Given the description of an element on the screen output the (x, y) to click on. 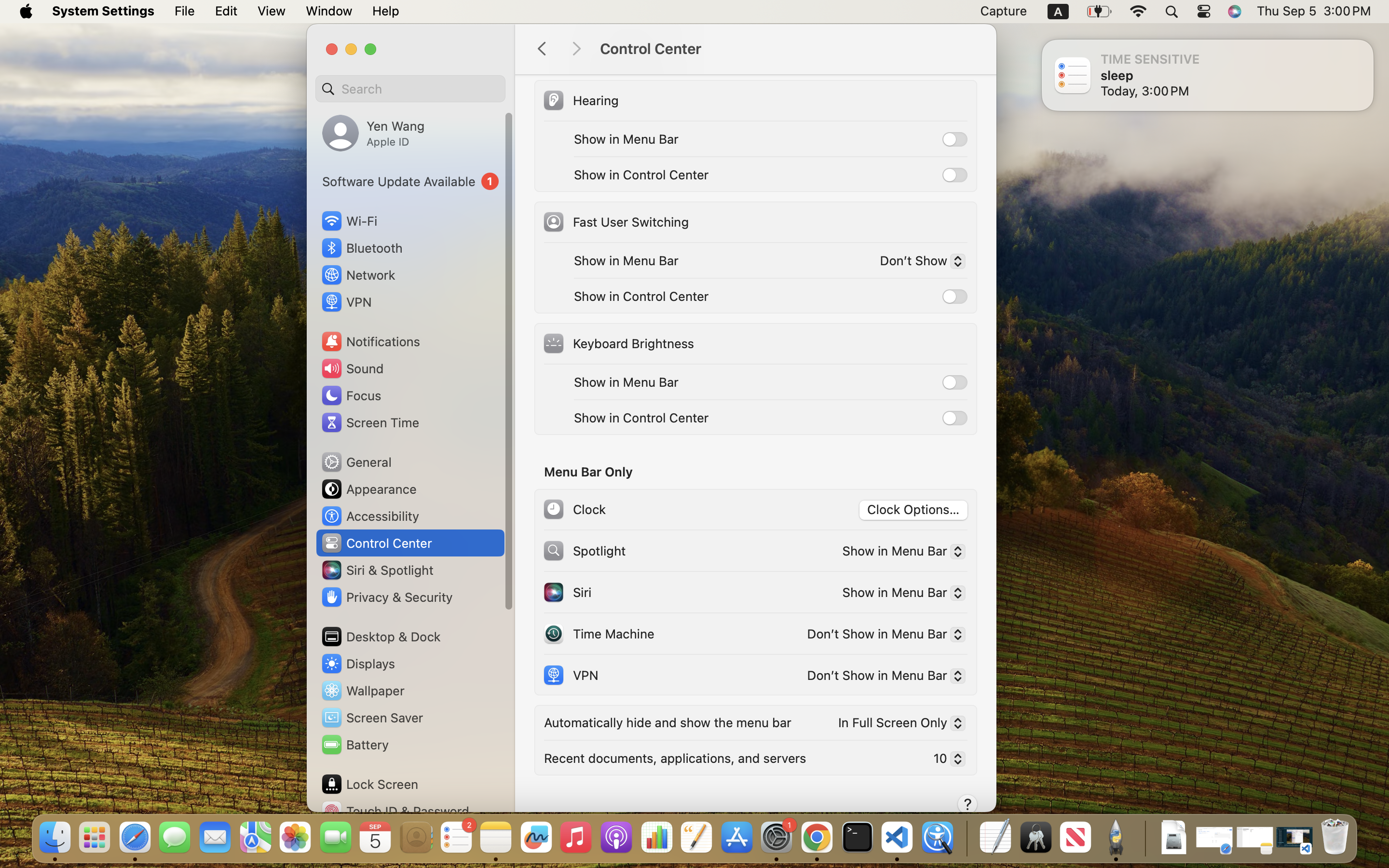
Show in Menu Bar Element type: AXStaticText (626, 381)
Spotlight Element type: AXStaticText (584, 550)
Siri Element type: AXStaticText (566, 591)
Appearance Element type: AXStaticText (368, 488)
Sound Element type: AXStaticText (351, 367)
